Given the description of an element on the screen output the (x, y) to click on. 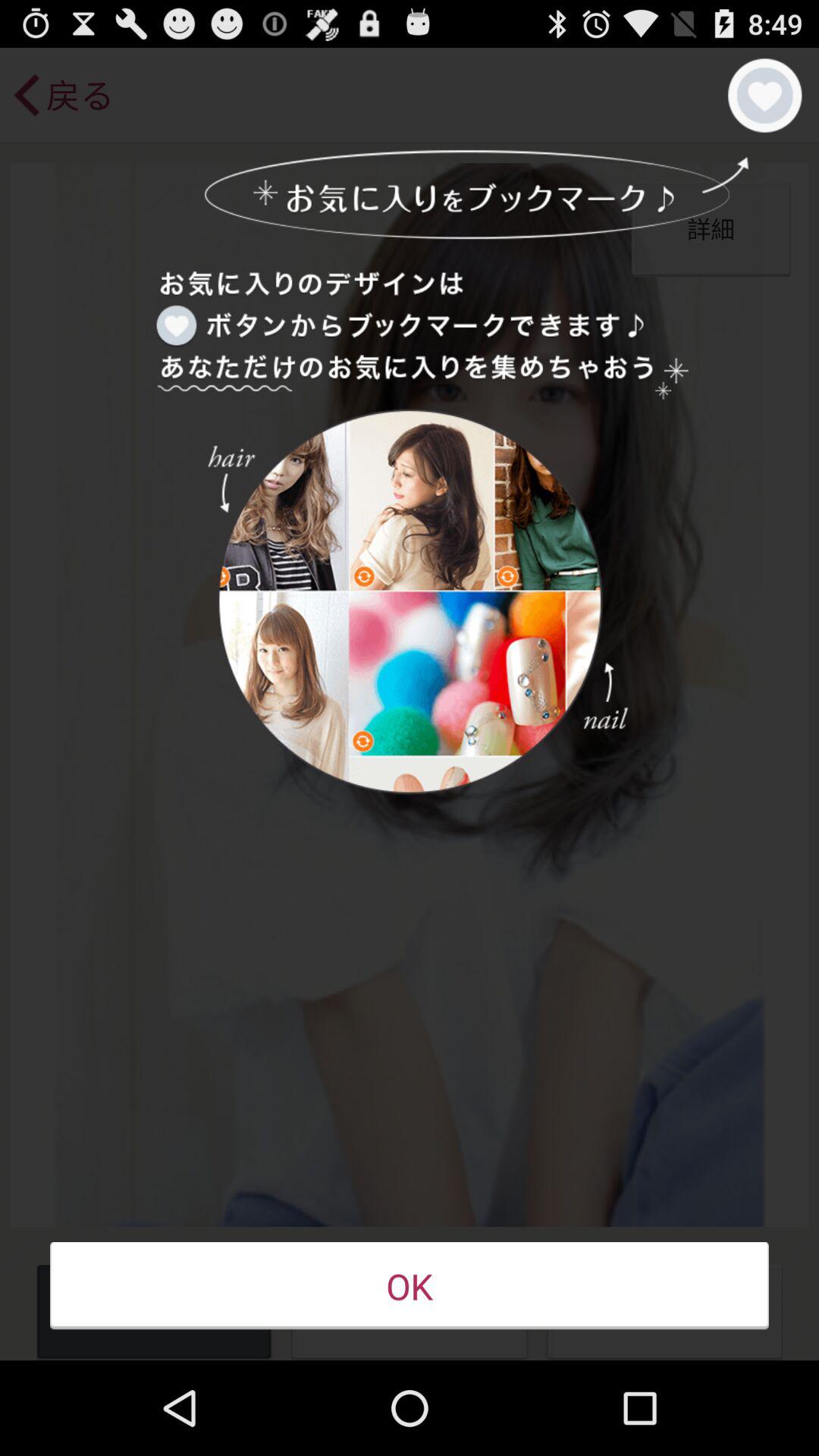
flip to the ok button (409, 1286)
